Given the description of an element on the screen output the (x, y) to click on. 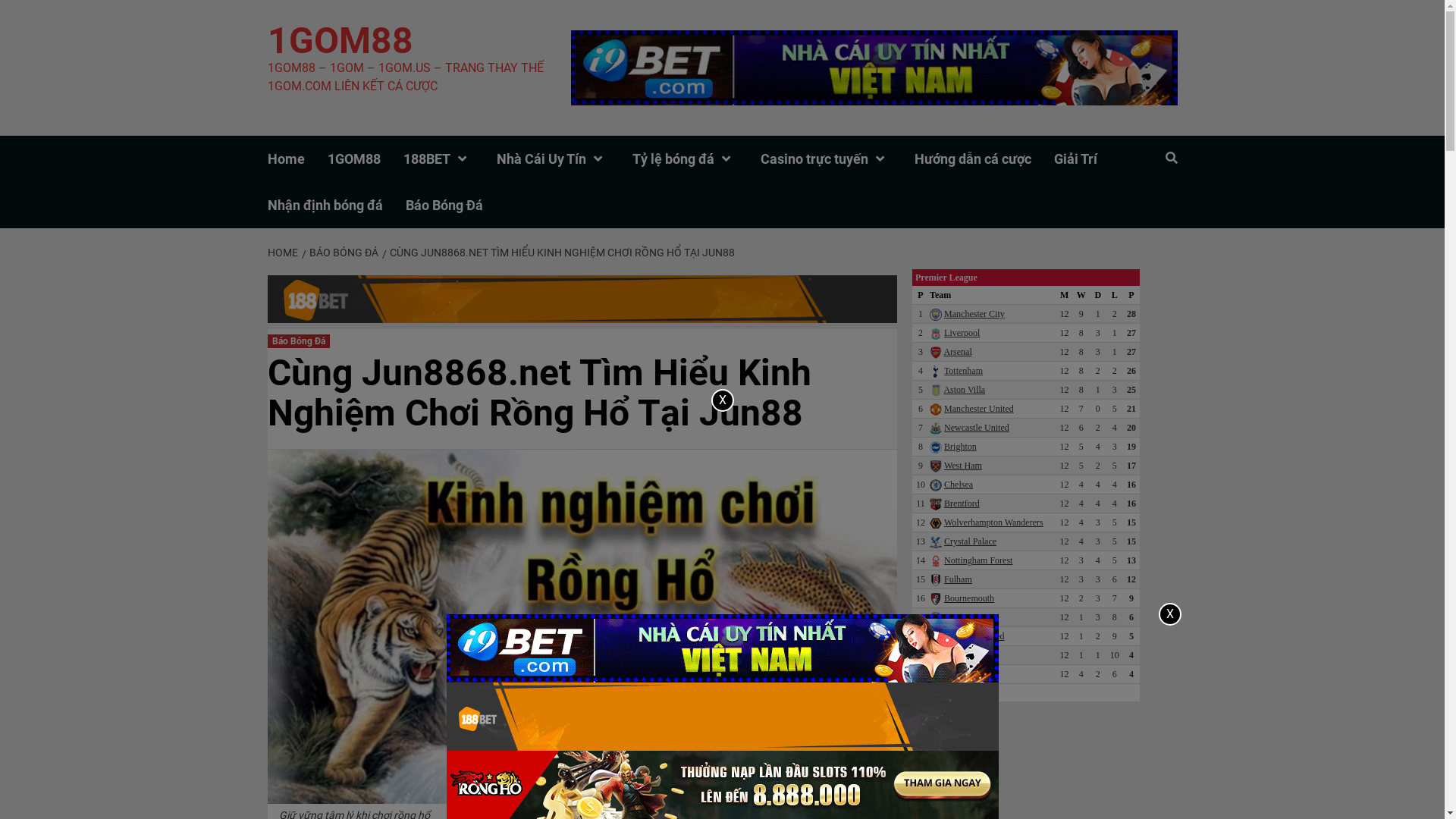
HOME Element type: text (283, 252)
1GOM88 Element type: text (339, 40)
188BET Element type: text (449, 158)
X Element type: text (722, 400)
1GOM88 Element type: text (365, 158)
Home Element type: text (296, 158)
